Given the description of an element on the screen output the (x, y) to click on. 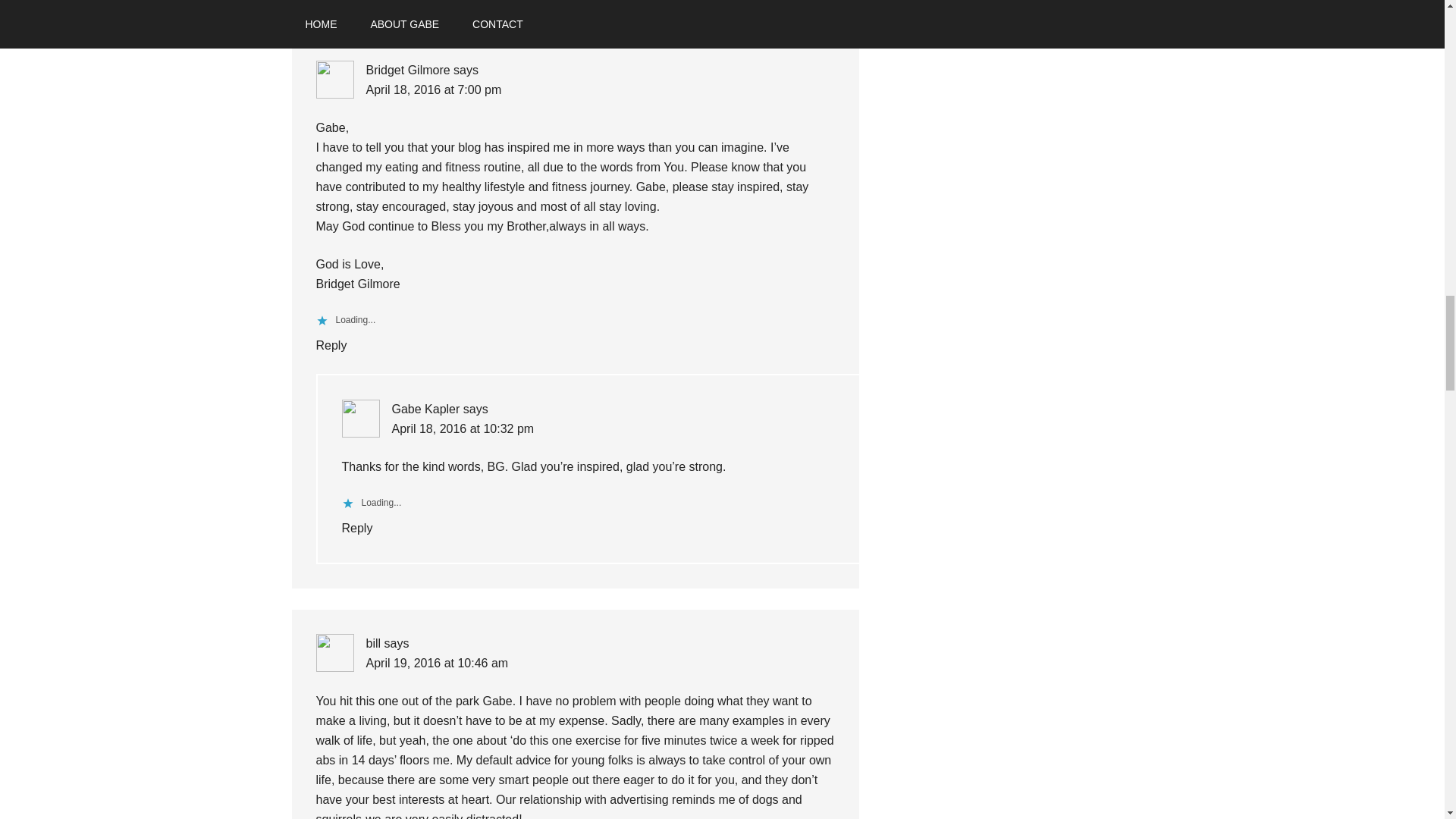
Reply (330, 345)
April 18, 2016 at 10:32 pm (462, 428)
April 18, 2016 at 7:00 pm (432, 89)
Gabe Kapler (425, 408)
